Given the description of an element on the screen output the (x, y) to click on. 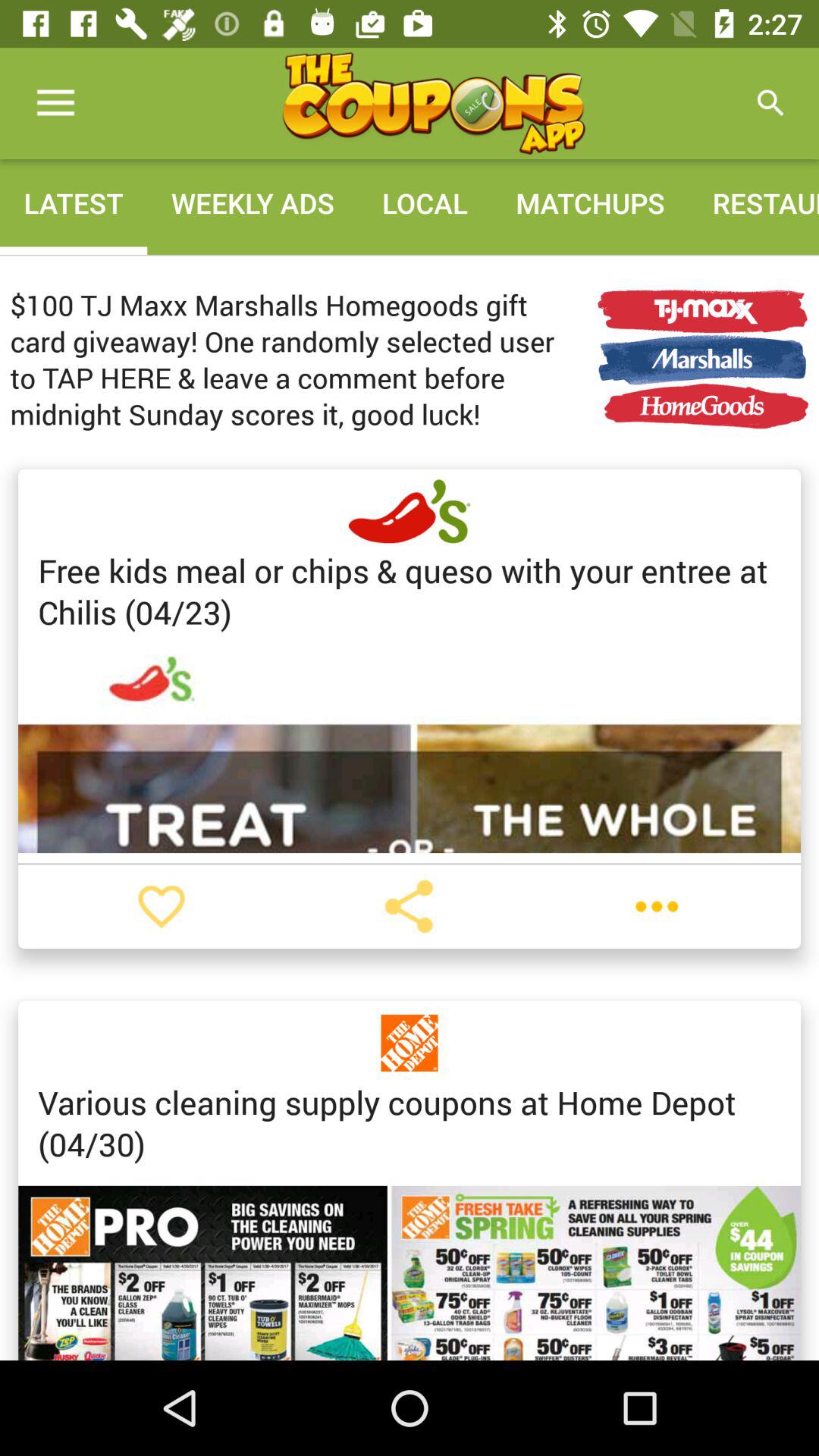
go to home screen (432, 103)
